Given the description of an element on the screen output the (x, y) to click on. 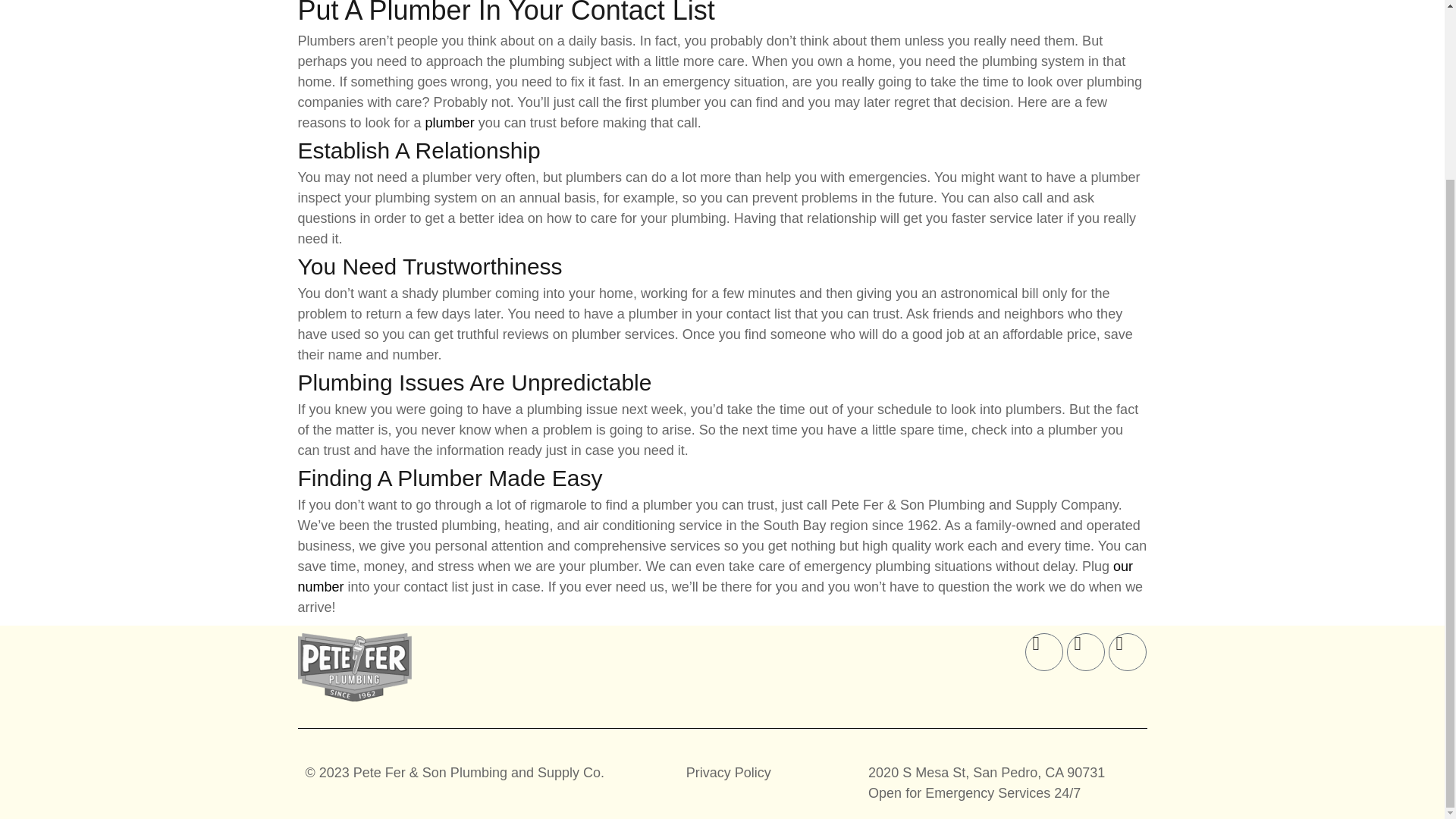
Logo-grayscale (353, 667)
